Given the description of an element on the screen output the (x, y) to click on. 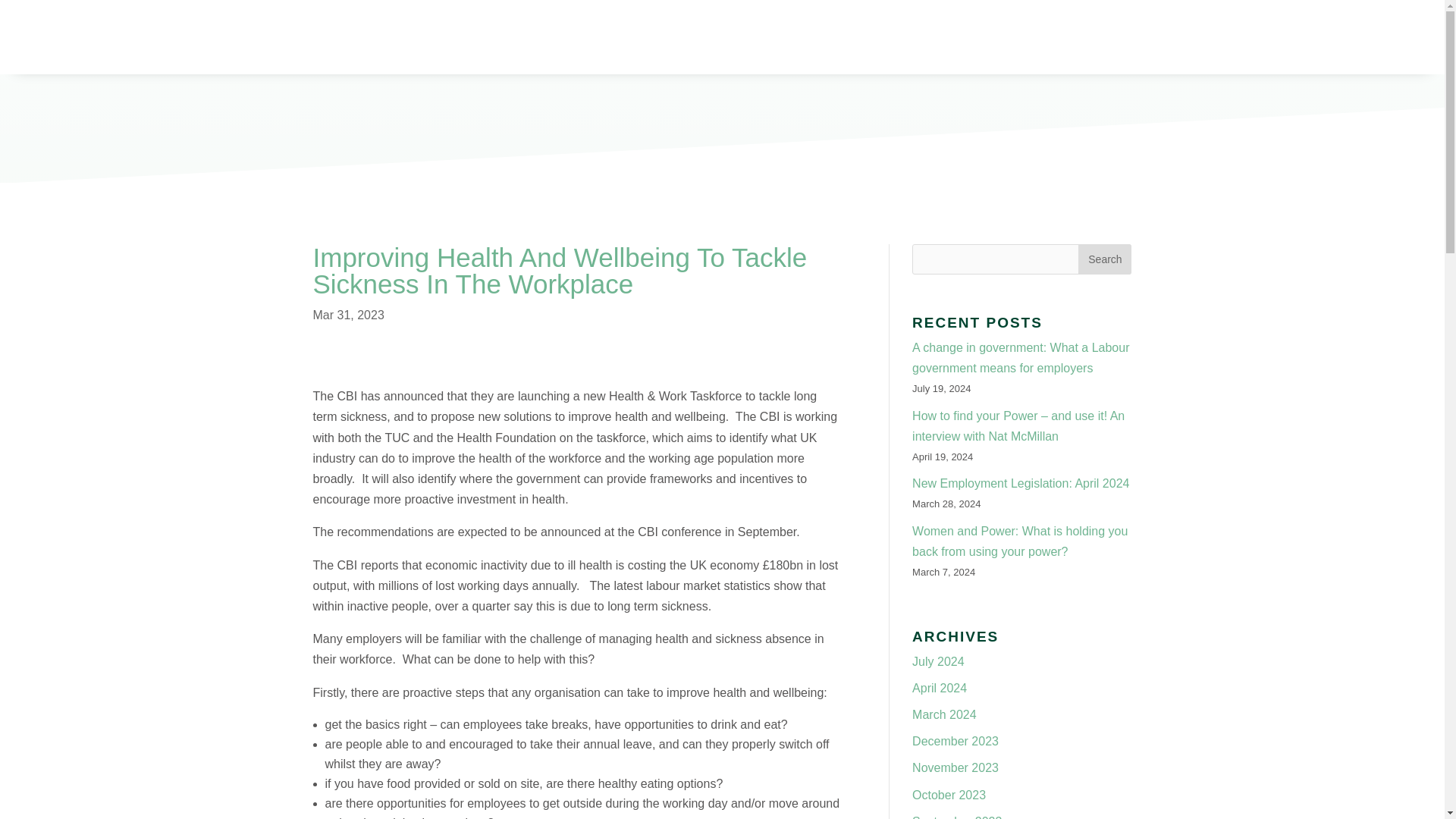
April 2024 (939, 687)
July 2024 (937, 661)
New Employment Legislation: April 2024 (1020, 482)
Search (1104, 259)
March 2024 (944, 714)
